Given the description of an element on the screen output the (x, y) to click on. 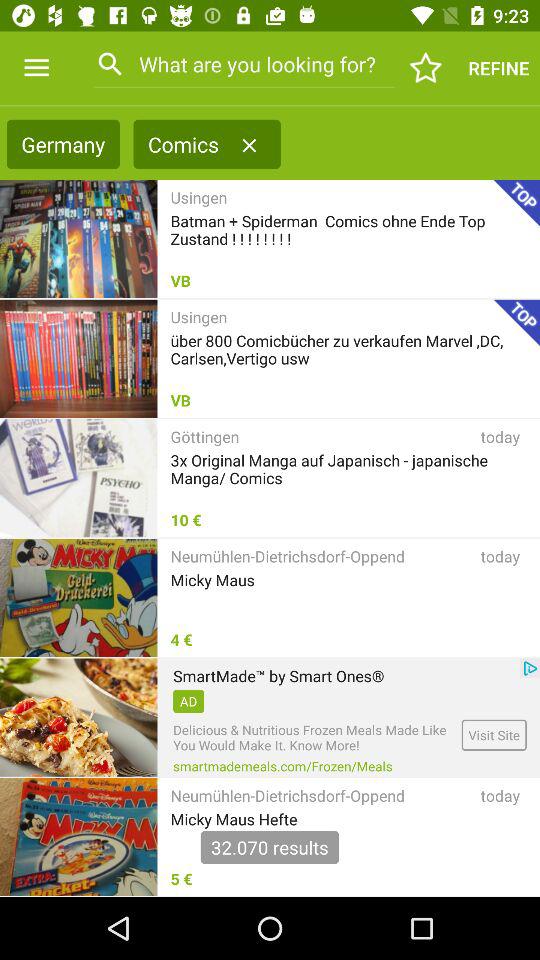
swipe to the refine item (498, 67)
